Given the description of an element on the screen output the (x, y) to click on. 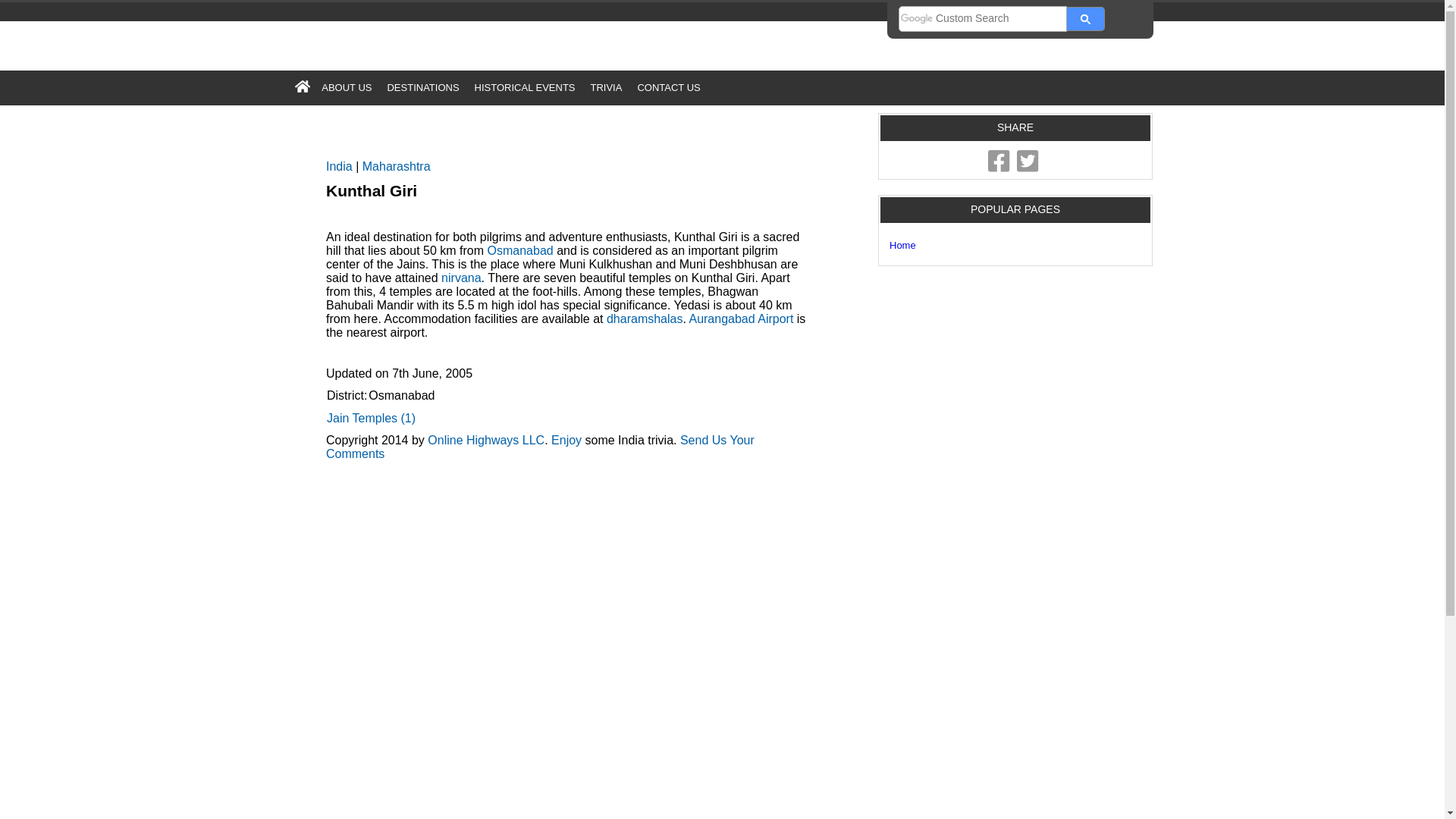
TRIVIA (605, 87)
search (1086, 18)
Maharashtra (396, 165)
dharamshalas (644, 318)
India (339, 165)
State (396, 165)
CONTACT US (667, 87)
Enjoy (565, 440)
HISTORICAL EVENTS (525, 87)
Osmanabad (520, 250)
search (982, 18)
ABOUT US (346, 87)
Online Highways LLC (486, 440)
DESTINATIONS (421, 87)
Send Us Your Comments (540, 447)
